Given the description of an element on the screen output the (x, y) to click on. 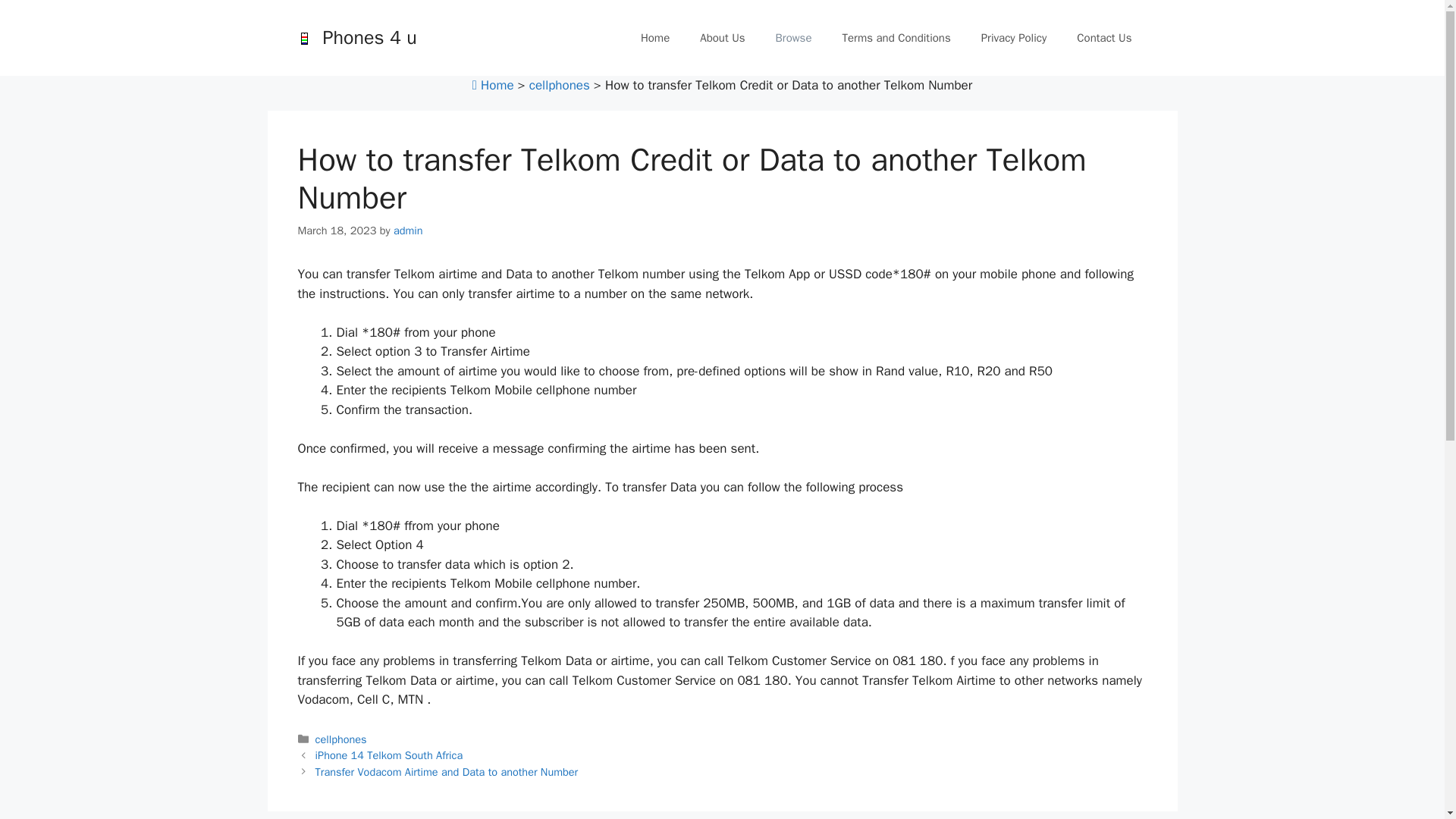
iPhone 14 Telkom South Africa (389, 755)
cellphones (340, 739)
View all posts by admin (408, 229)
Terms and Conditions (896, 37)
Phones 4 u (302, 38)
admin (408, 229)
Phones 4 u (369, 37)
Browse (793, 37)
Transfer Vodacom Airtime and Data to another Number (446, 771)
cellphones (559, 84)
Contact Us (1104, 37)
Home (492, 84)
About Us (722, 37)
Home (655, 37)
Previous (389, 755)
